Given the description of an element on the screen output the (x, y) to click on. 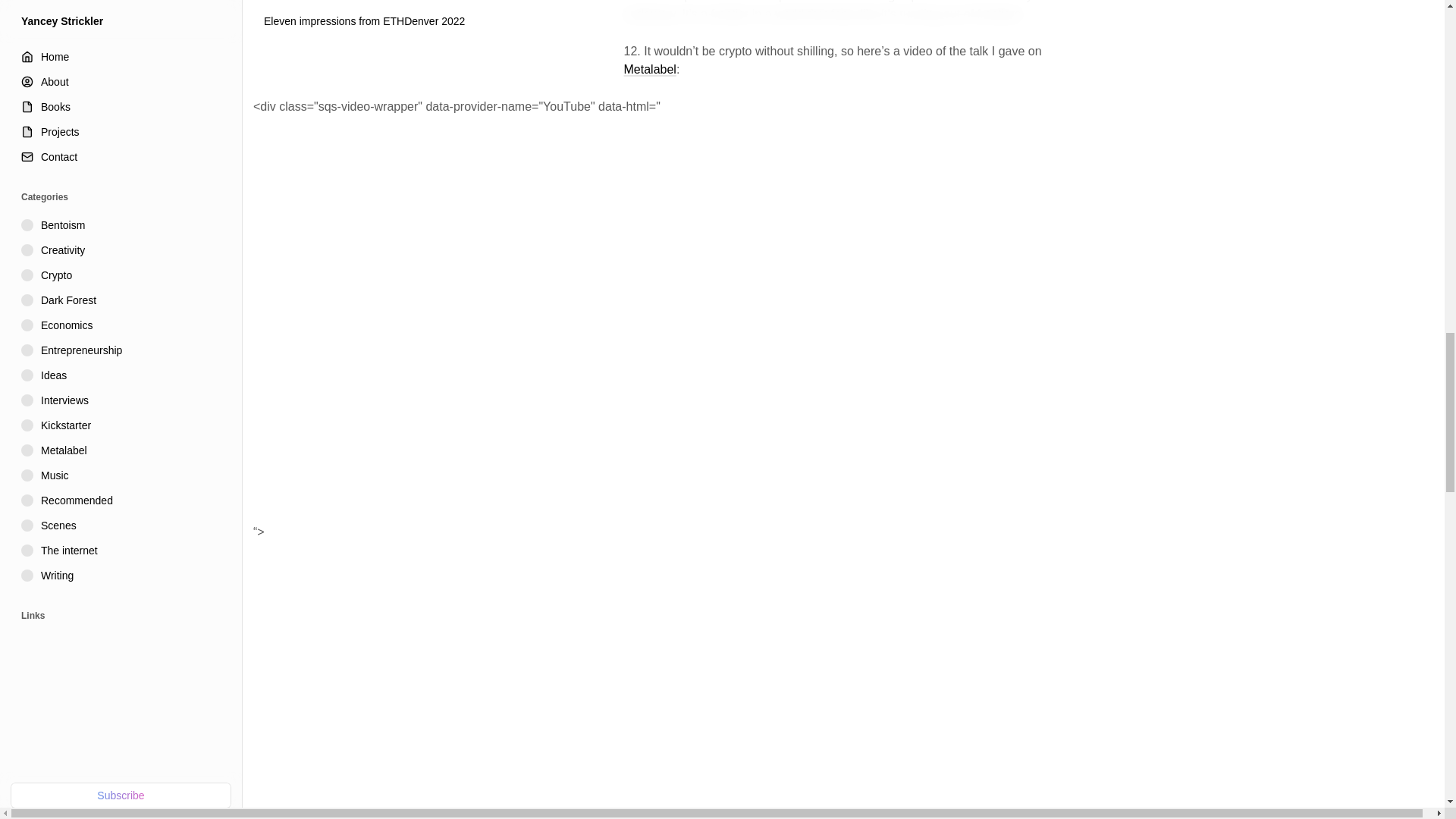
Metalabel (649, 69)
